Given the description of an element on the screen output the (x, y) to click on. 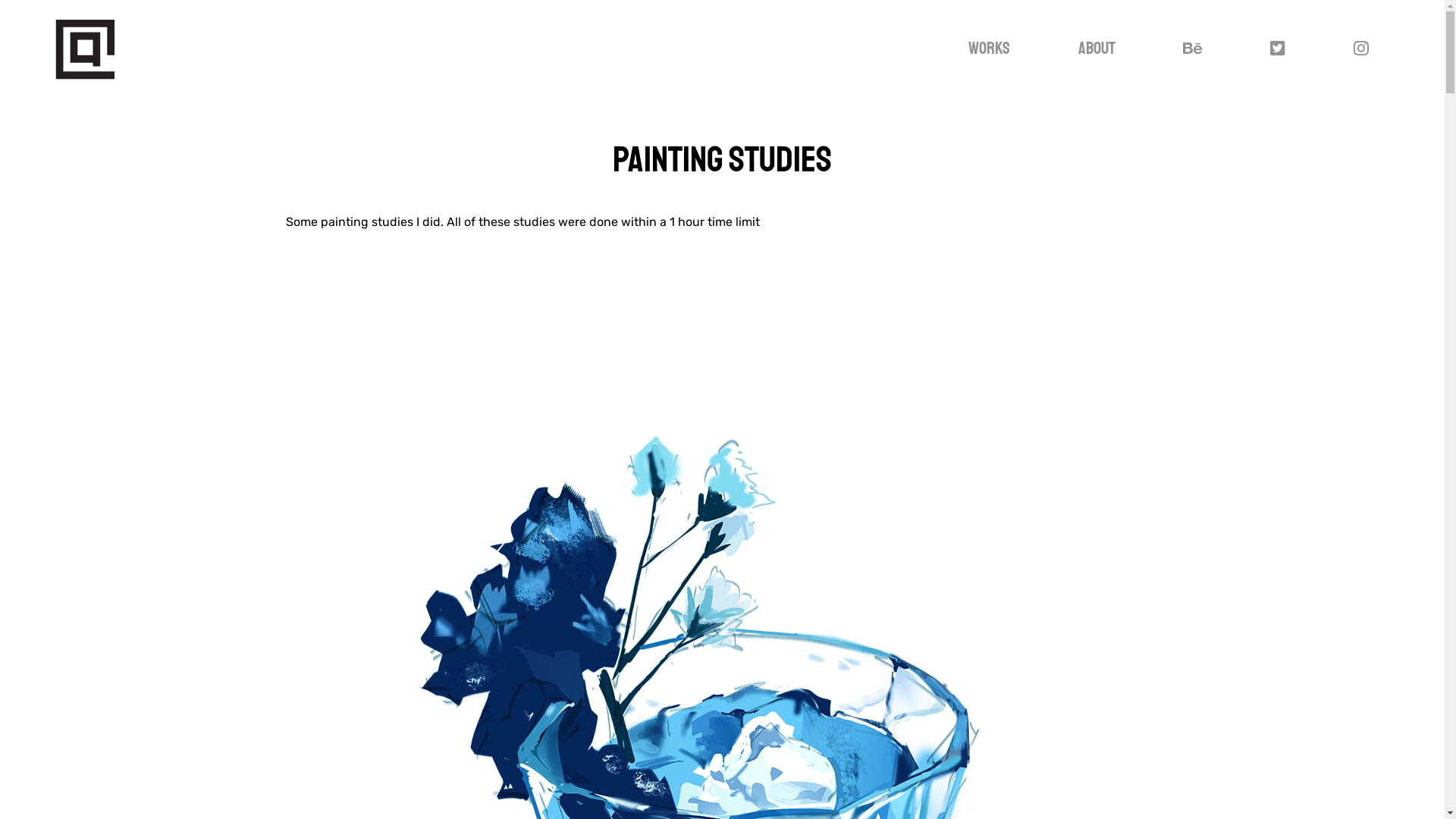
Works Element type: text (989, 47)
About Element type: text (1096, 47)
